Given the description of an element on the screen output the (x, y) to click on. 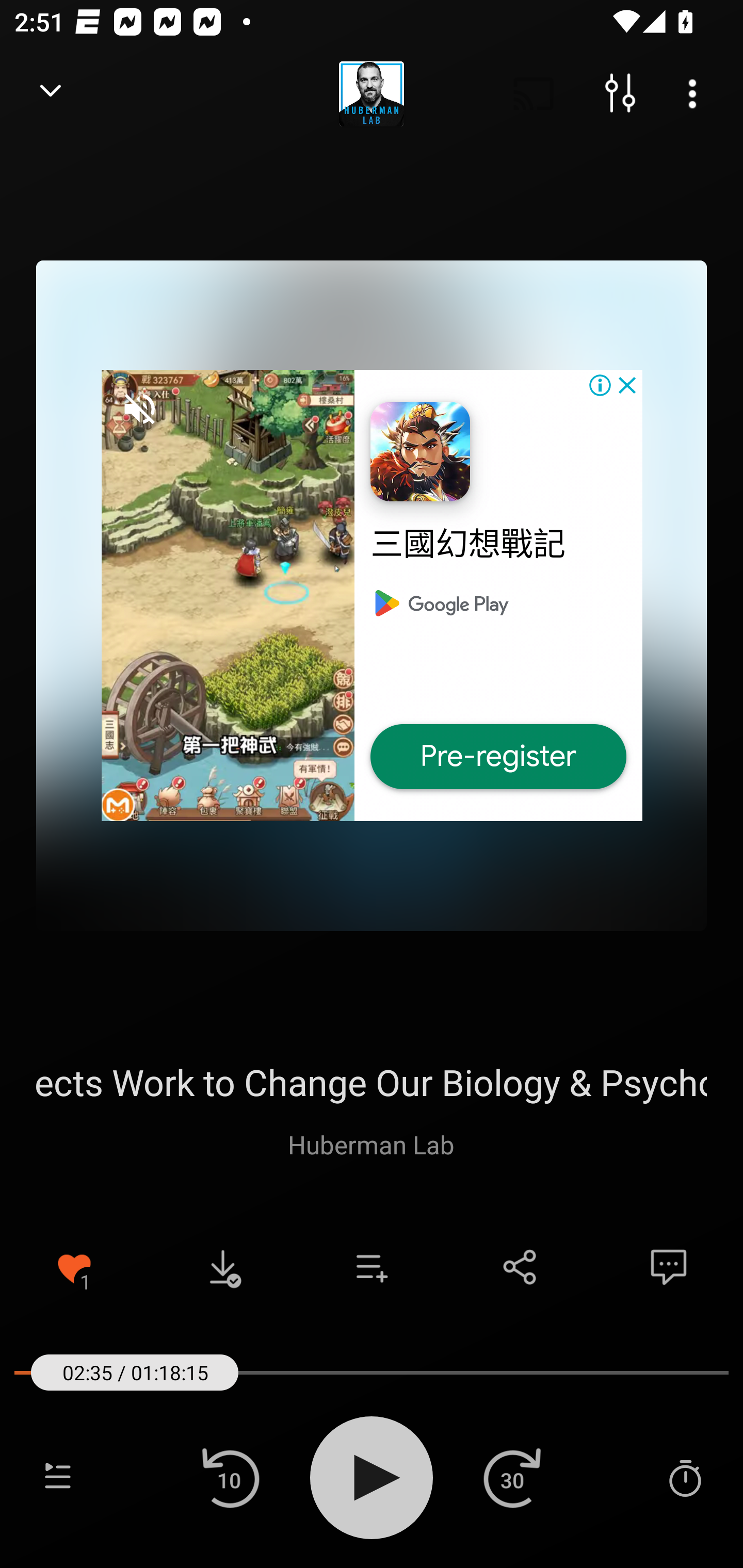
 Back (50, 94)
三國幻想戰記 Pre-register Pre-register (371, 595)
Pre-register (498, 757)
Huberman Lab (370, 1144)
Comments (668, 1266)
Remove from Favorites (73, 1266)
Add to playlist (371, 1266)
Share (519, 1266)
 Playlist (57, 1477)
Sleep Timer  (684, 1477)
